Given the description of an element on the screen output the (x, y) to click on. 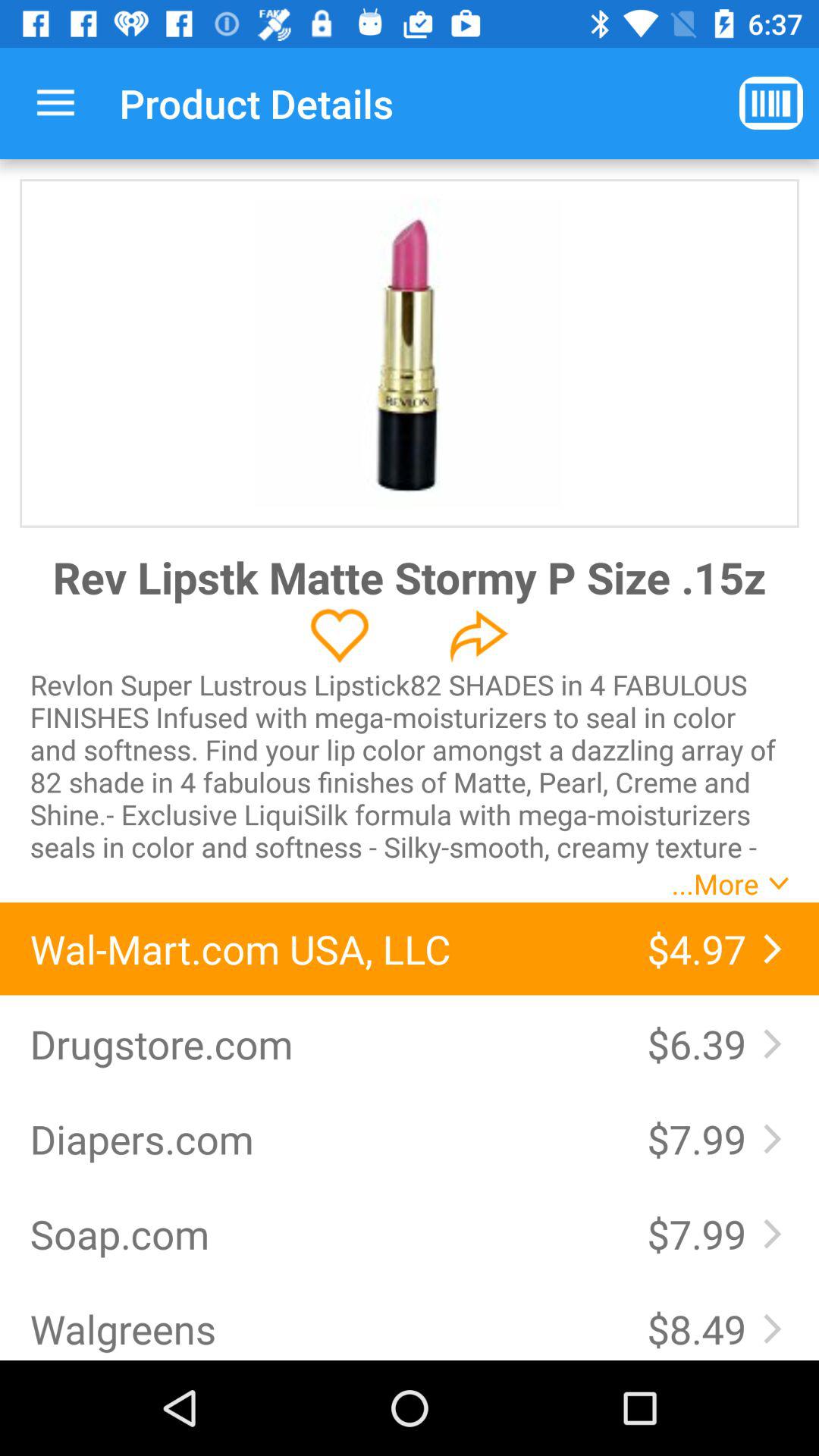
turn off app next to product details (55, 103)
